Given the description of an element on the screen output the (x, y) to click on. 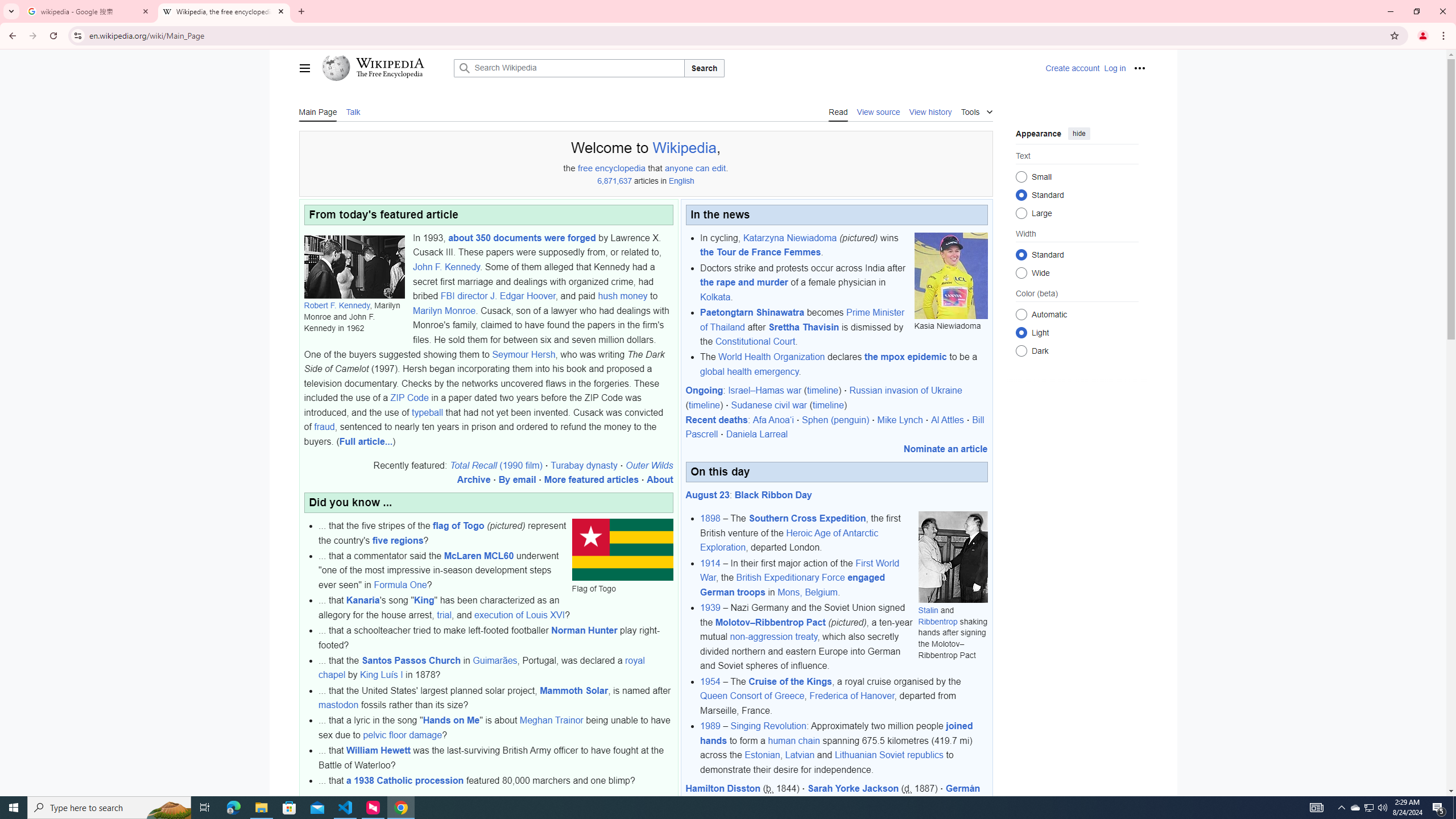
Heroic Age of Antarctic Exploration (789, 539)
Mons, Belgium (807, 592)
1954 (710, 681)
Wikipedia The Free Encyclopedia (384, 68)
View source (877, 111)
Robert F. Kennedy (336, 305)
Archive (478, 799)
Meghan Trainor (551, 720)
Formula One (400, 584)
Wikipedia, the free encyclopedia (224, 11)
1989 (710, 725)
typeball (427, 412)
